Given the description of an element on the screen output the (x, y) to click on. 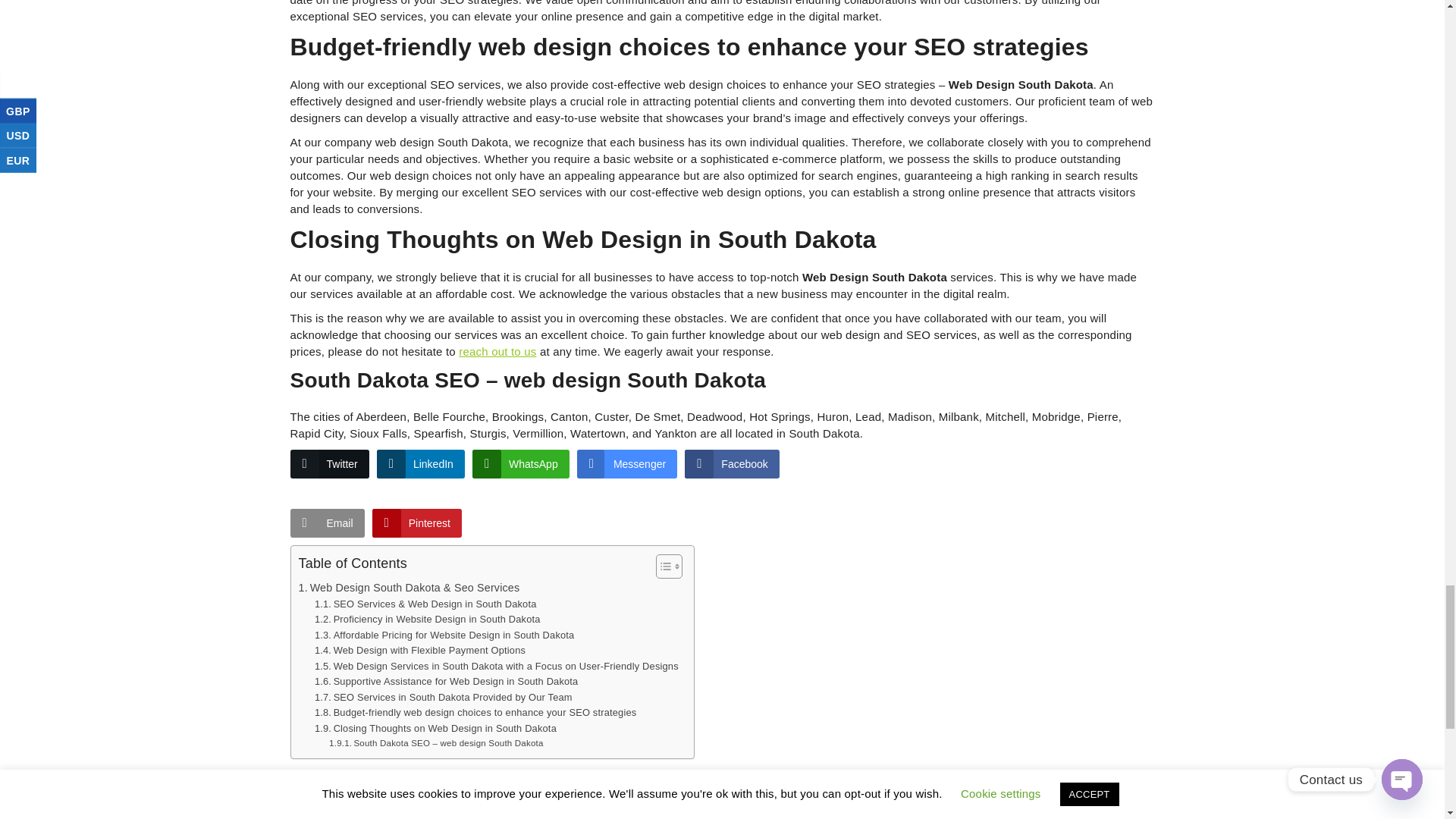
Proficiency in Website Design in South Dakota (427, 619)
Affordable Pricing for Website Design in South Dakota (444, 635)
Supportive Assistance for Web Design in South Dakota (446, 682)
SEO Services in South Dakota Provided by Our Team (443, 697)
Web Design with Flexible Payment Options (419, 650)
Closing Thoughts on Web Design in South Dakota (435, 729)
